Given the description of an element on the screen output the (x, y) to click on. 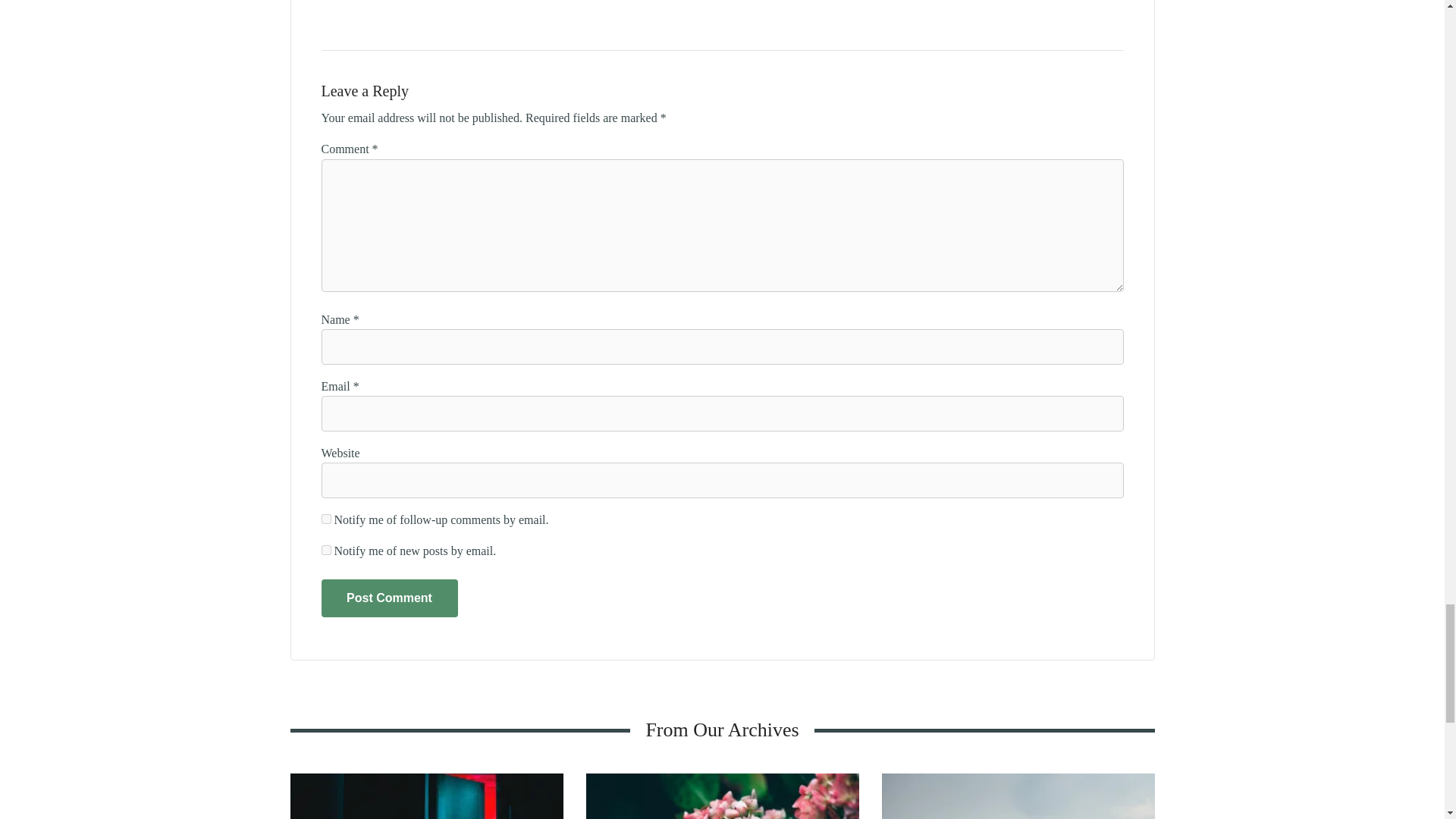
subscribe (326, 519)
subscribe (326, 550)
Post Comment (389, 598)
